Given the description of an element on the screen output the (x, y) to click on. 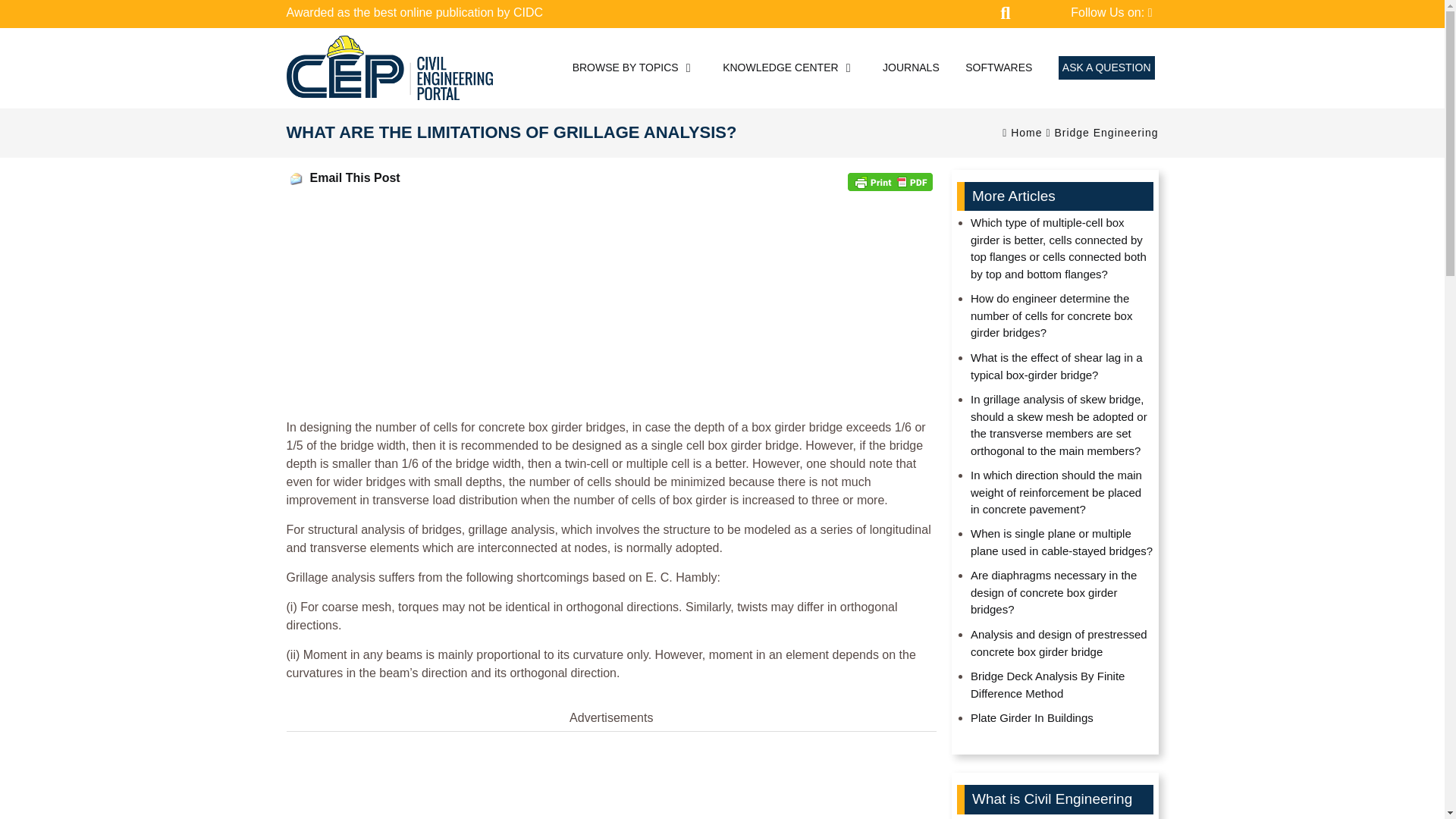
Follow Us on: (1110, 13)
View all posts in Bridge Engineering (1105, 132)
Advertisement (611, 779)
Email This Post (295, 178)
Email This Post (353, 177)
